Given the description of an element on the screen output the (x, y) to click on. 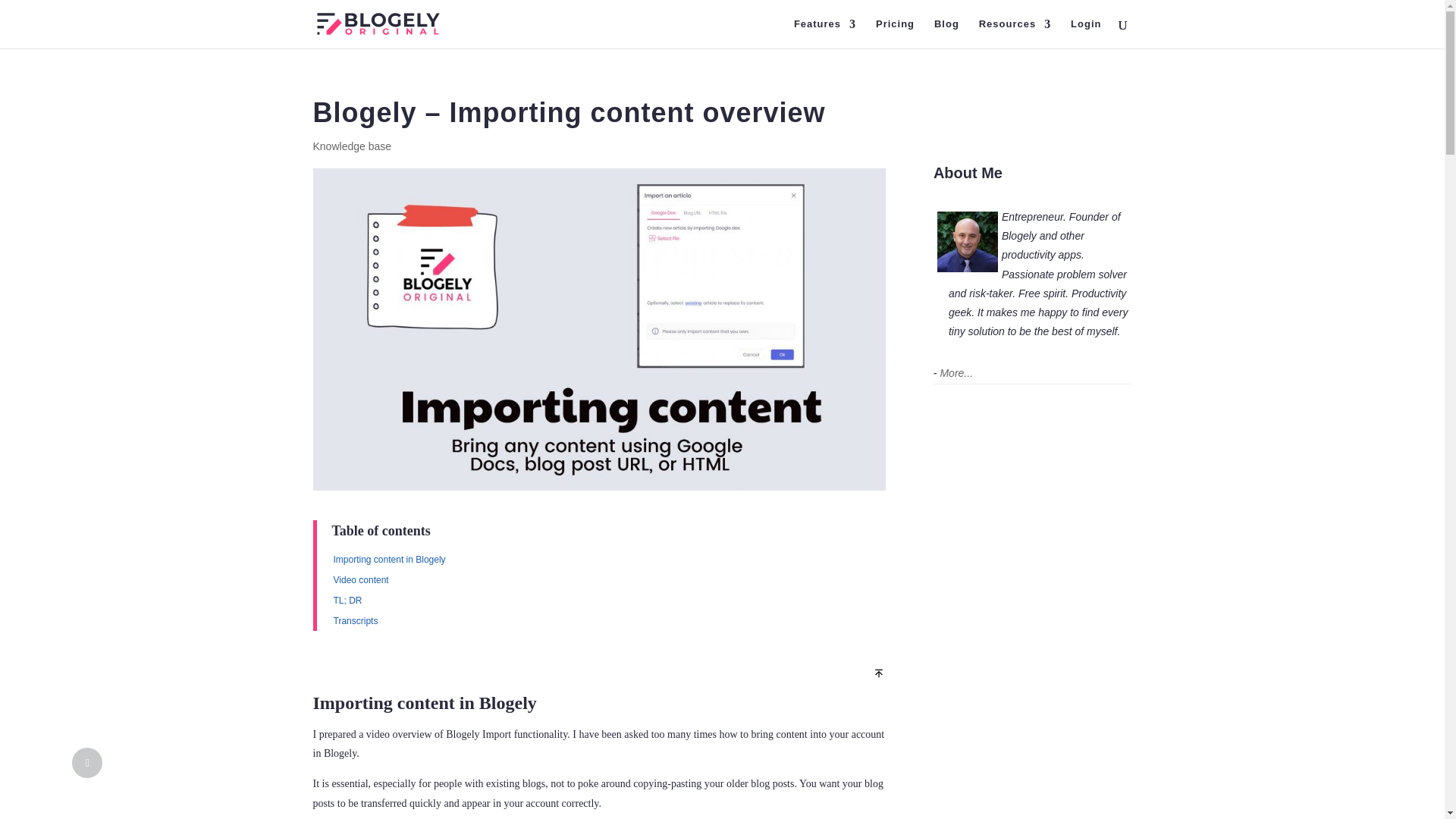
Resources (1014, 33)
Features (824, 33)
Pricing (895, 33)
Login (1085, 33)
